Given the description of an element on the screen output the (x, y) to click on. 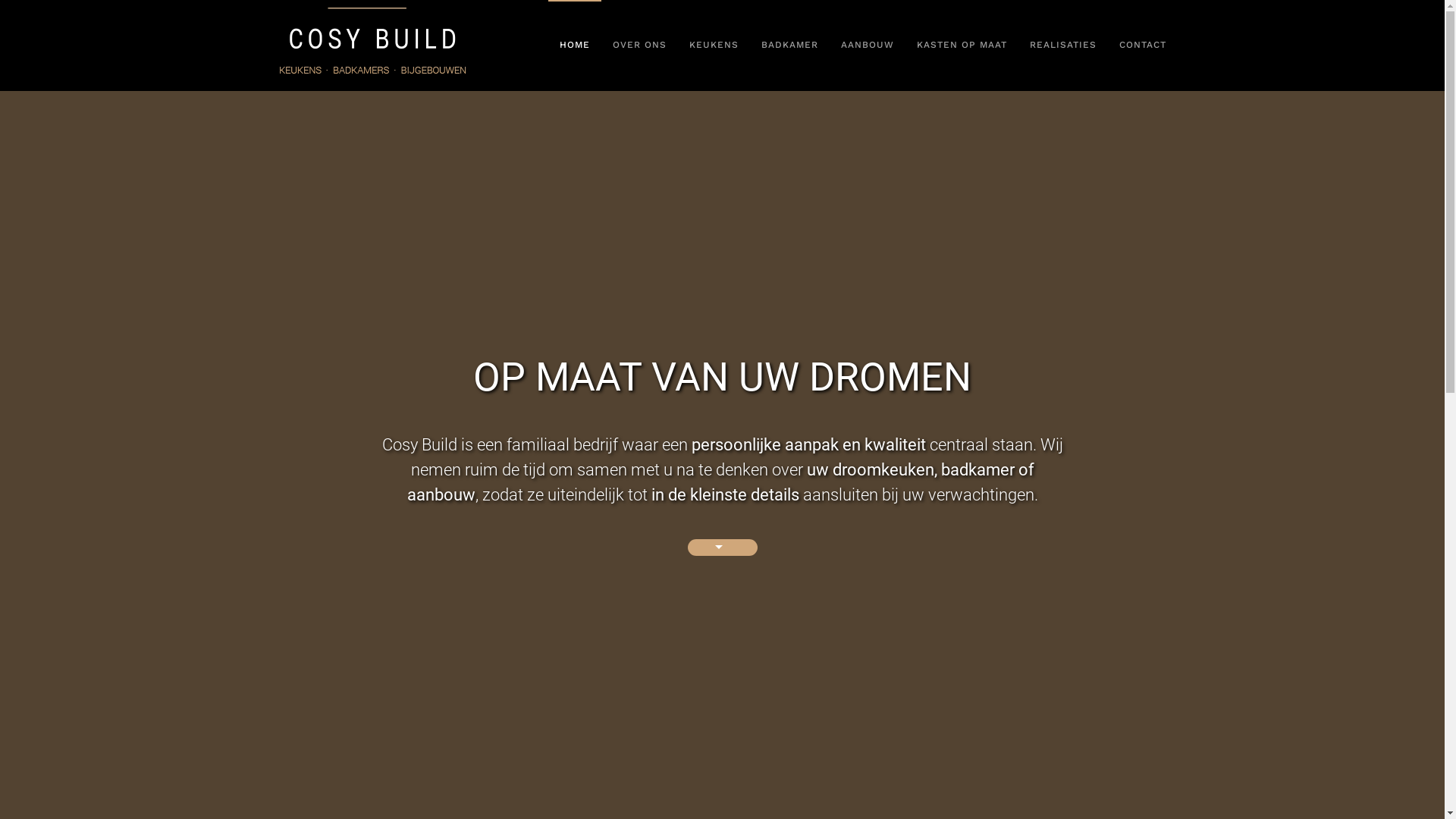
BADKAMER Element type: text (788, 45)
KEUKENS Element type: text (713, 45)
AANBOUW Element type: text (867, 45)
CONTACT Element type: text (1141, 45)
REALISATIES Element type: text (1062, 45)
KASTEN OP MAAT Element type: text (961, 45)
HOME Element type: text (573, 45)
OVER ONS Element type: text (638, 45)
